Given the description of an element on the screen output the (x, y) to click on. 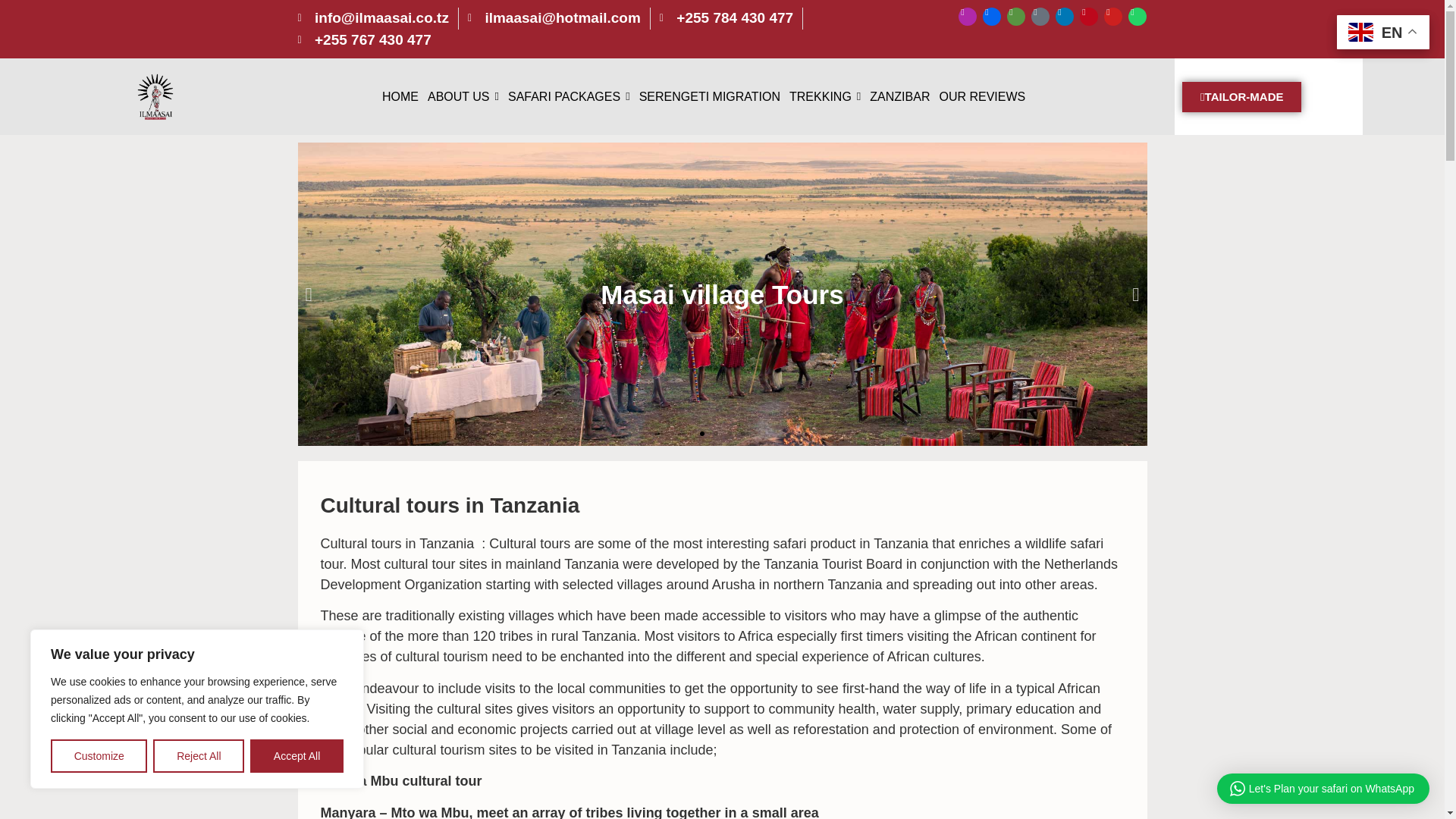
Customize (98, 756)
HOME (400, 96)
ABOUT US (463, 96)
SAFARI PACKAGES (569, 96)
Accept All (296, 756)
Reject All (198, 756)
